Given the description of an element on the screen output the (x, y) to click on. 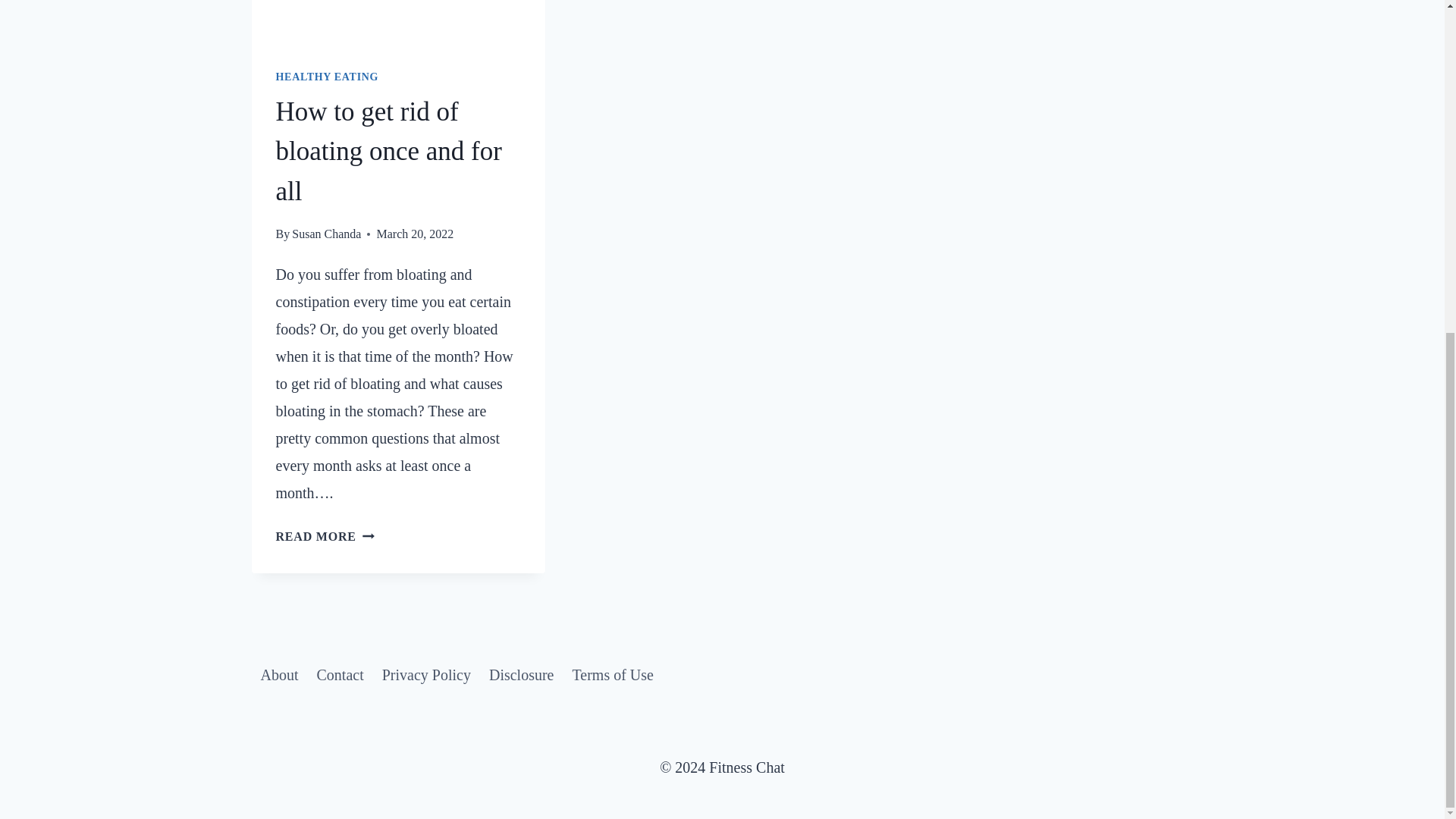
Susan Chanda (326, 233)
HEALTHY EATING (327, 76)
About (279, 674)
Privacy Policy (325, 535)
Terms of Use (426, 674)
Contact (612, 674)
How to get rid of bloating once and for all (339, 674)
Disclosure (389, 151)
